Given the description of an element on the screen output the (x, y) to click on. 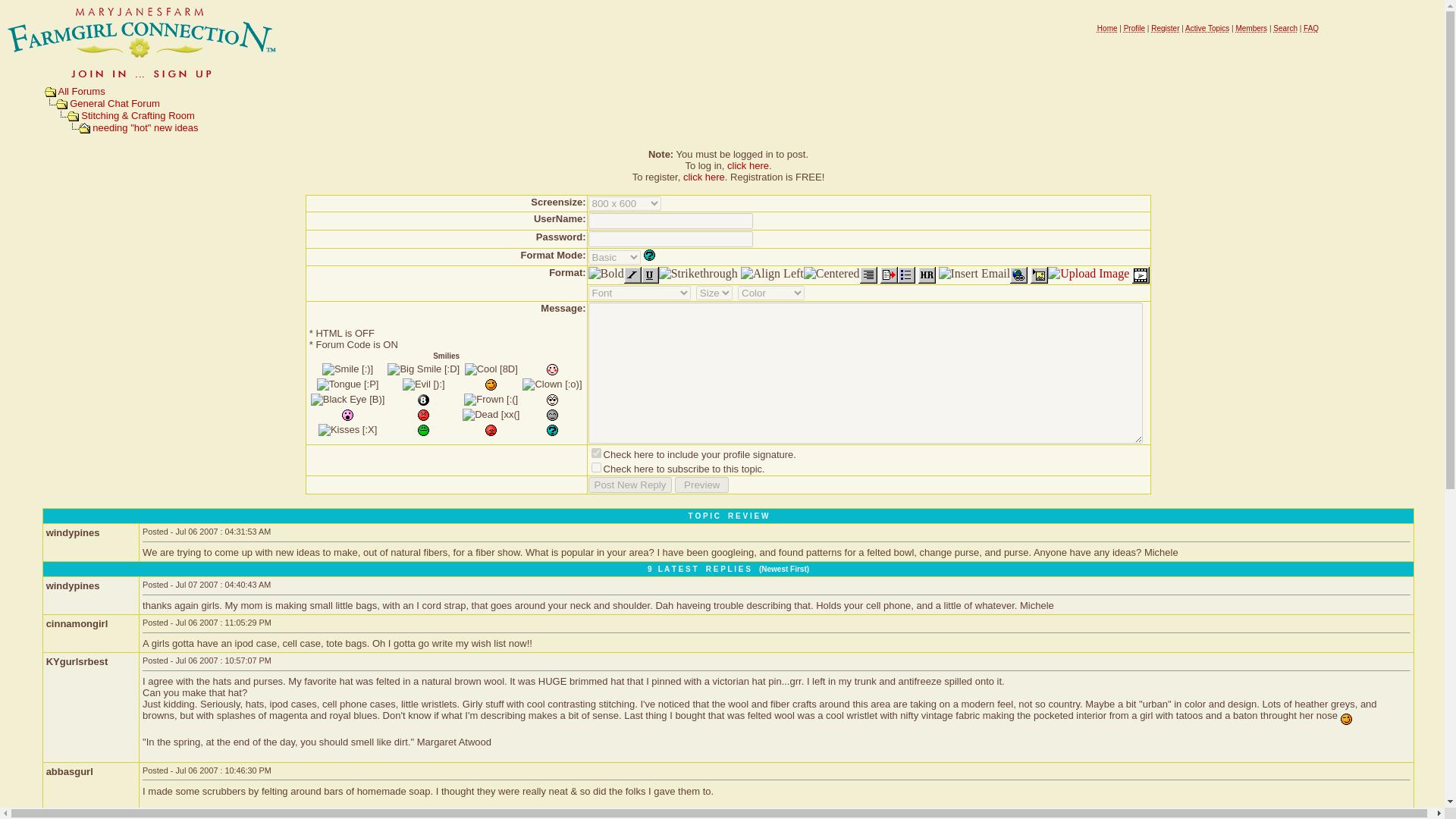
Home (1107, 28)
Active Topics (1206, 28)
FAQ (1311, 28)
 Preview  (702, 484)
click here (747, 165)
Post New Reply (630, 484)
Edit your personal profile... (1134, 28)
Members (1250, 28)
All Forums (81, 91)
Click here to sign up (142, 78)
